Given the description of an element on the screen output the (x, y) to click on. 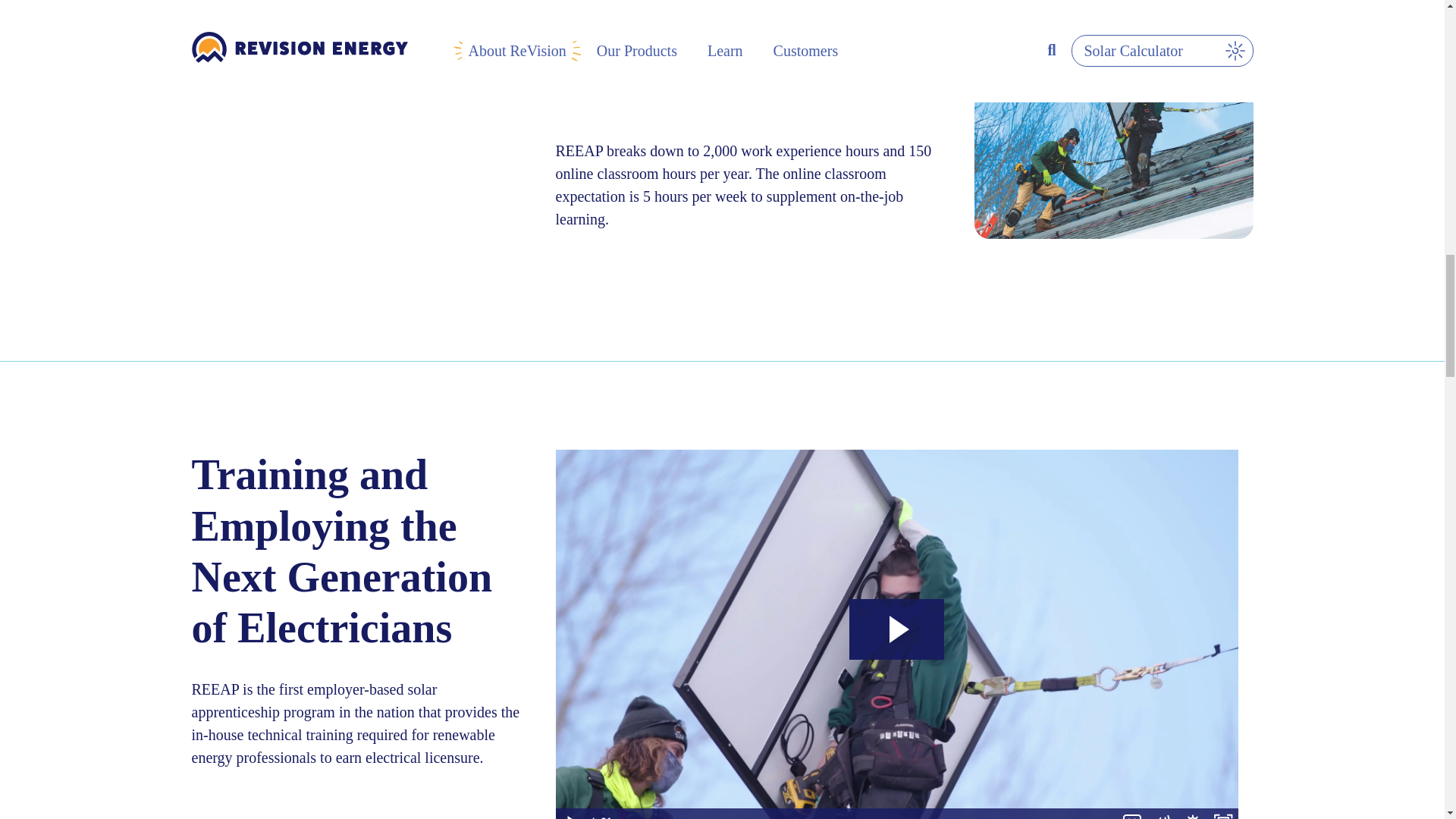
Fullscreen (1222, 813)
Play Video (569, 813)
Show settings menu (1191, 813)
Mute (1161, 813)
Show captions menu (1131, 813)
